Given the description of an element on the screen output the (x, y) to click on. 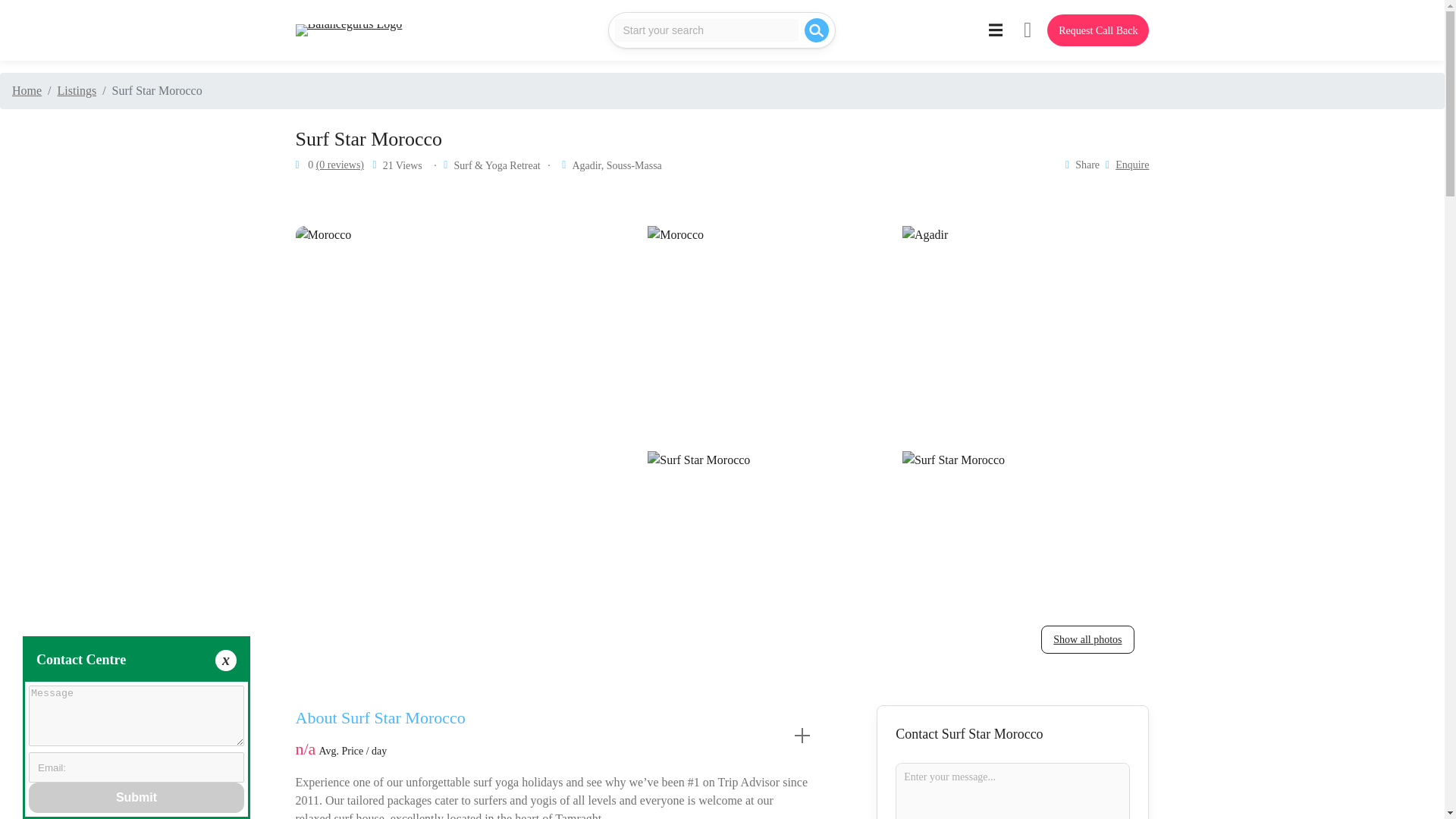
Show all photos (1086, 639)
Contact Surf Star Morocco (1012, 733)
Submit (136, 797)
Listings (77, 90)
Enquire (1131, 164)
Home (26, 90)
